Given the description of an element on the screen output the (x, y) to click on. 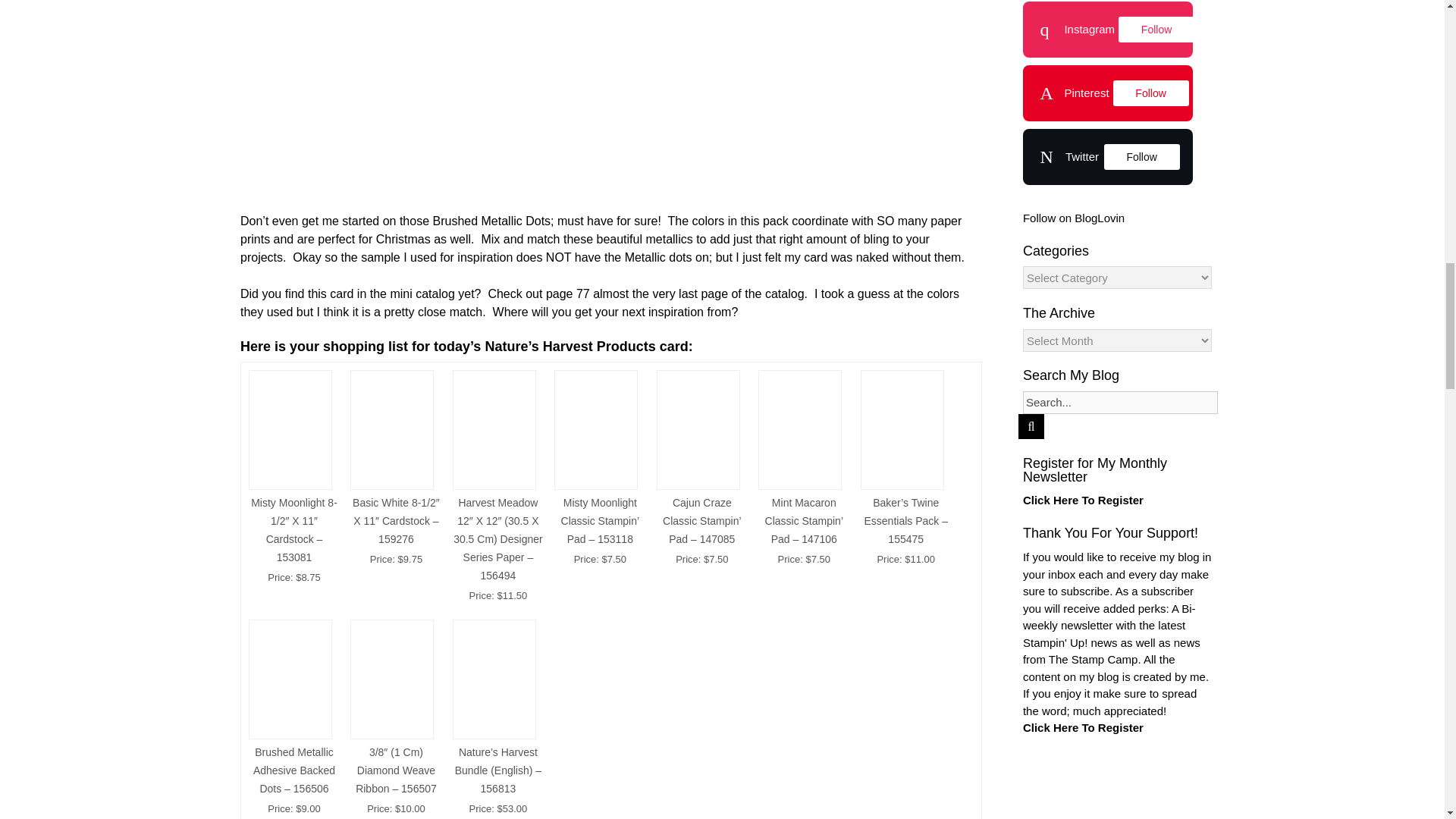
Search for: (1120, 402)
